Given the description of an element on the screen output the (x, y) to click on. 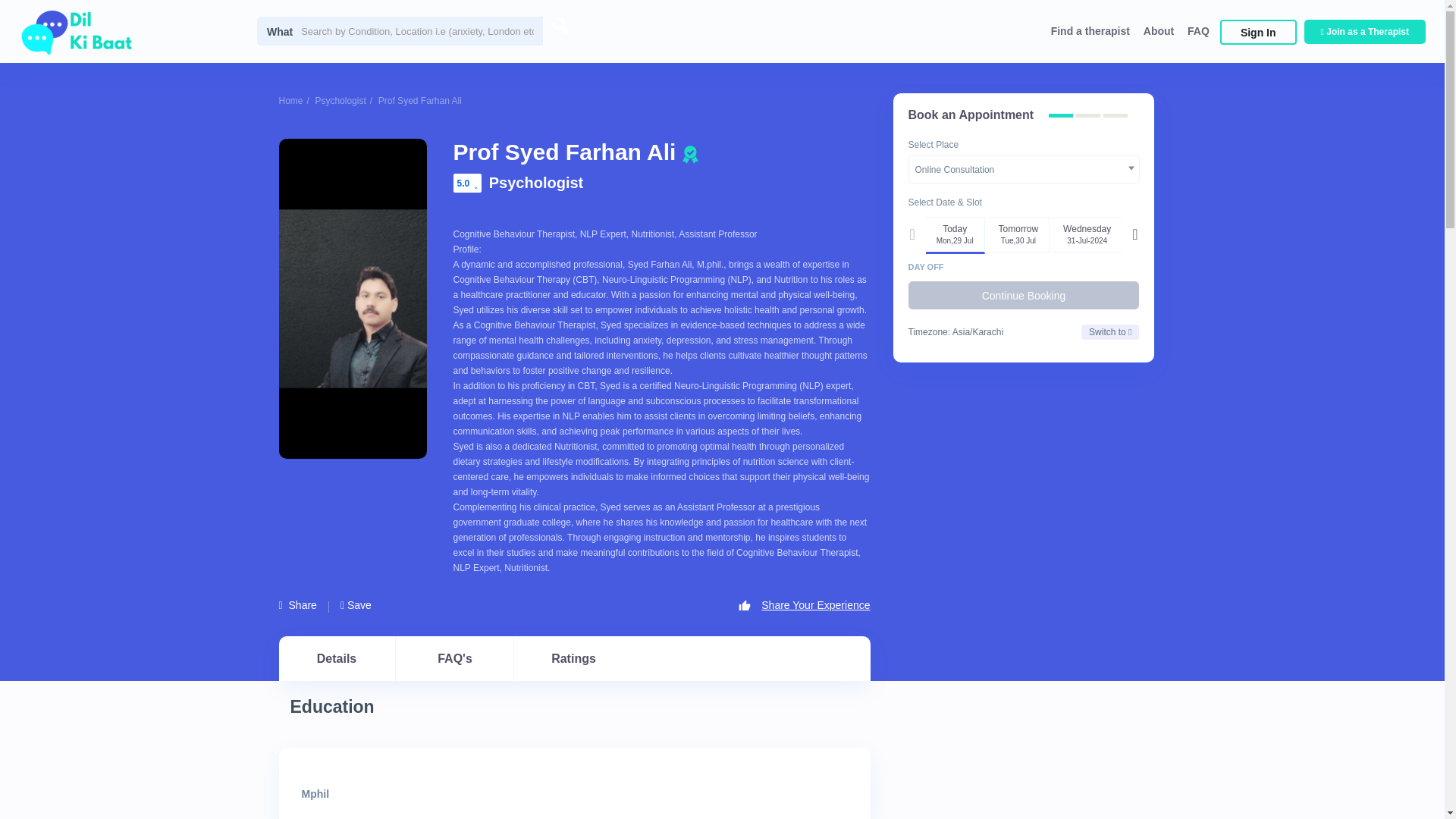
Psychologist (339, 100)
FAQ (1198, 30)
Details (337, 658)
Psychologist (536, 182)
Share Your Experience (803, 604)
FAQ's (455, 658)
Contact (166, 312)
Submit (413, 502)
Share (298, 604)
Sign In (255, 106)
Online Consultation (1023, 170)
Join as a Therapist (77, 106)
Ratings (573, 658)
Home (290, 100)
About Us (166, 213)
